Given the description of an element on the screen output the (x, y) to click on. 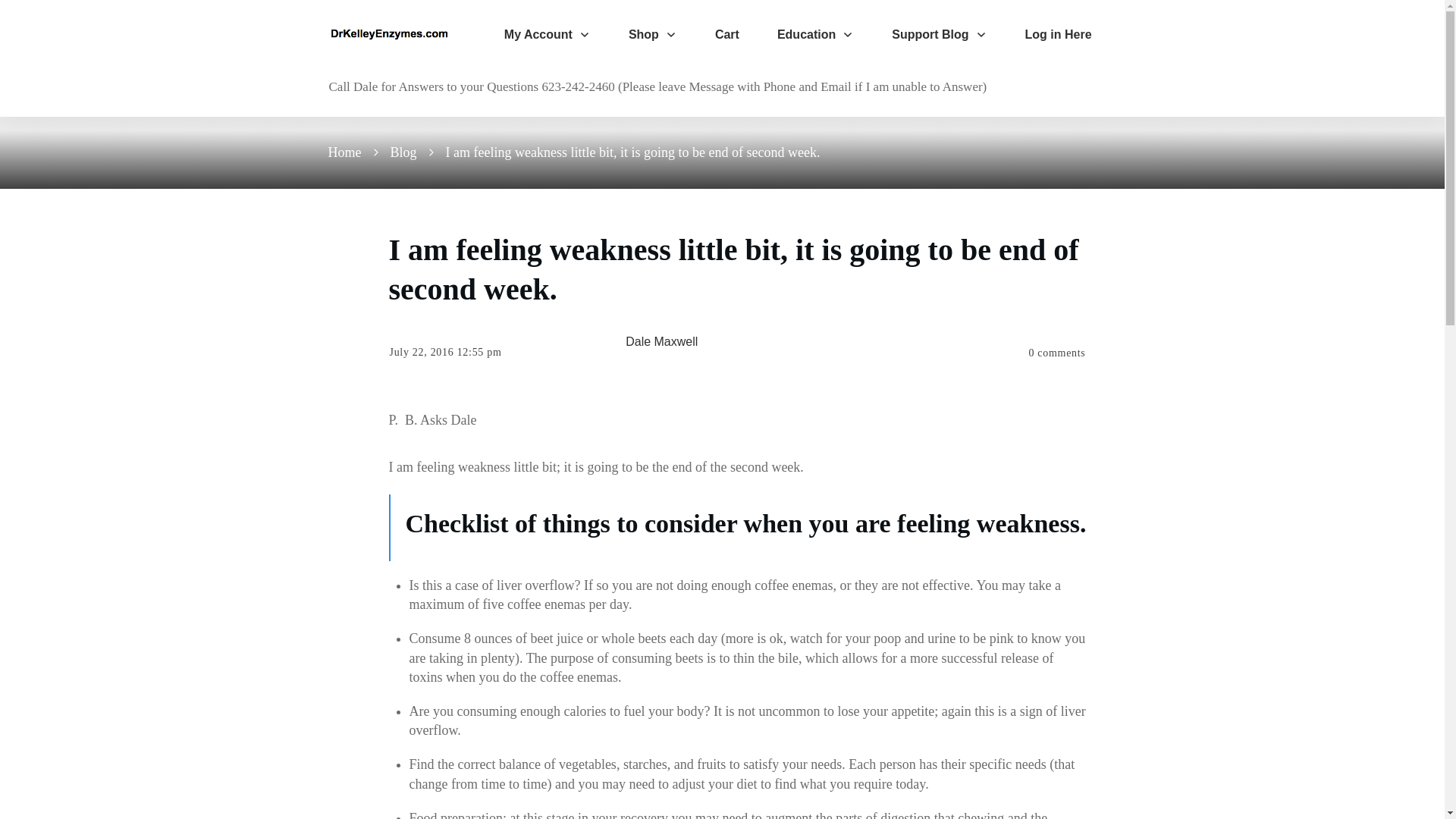
Education (815, 34)
Shop (652, 34)
My Account (547, 34)
Cart (726, 34)
